Given the description of an element on the screen output the (x, y) to click on. 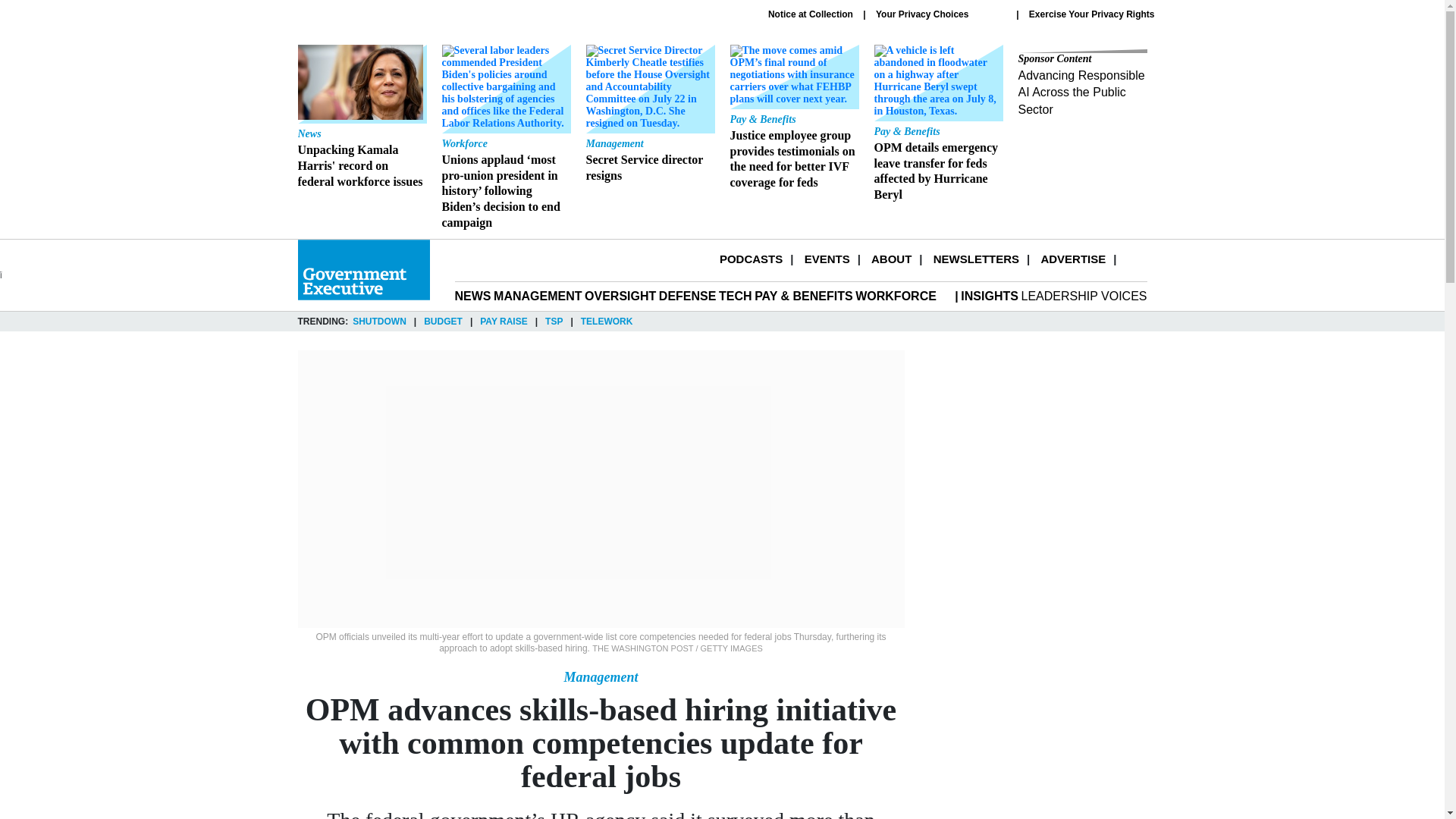
ADVERTISE (1073, 258)
NEWSLETTERS (976, 258)
Notice at Collection (810, 14)
Your Privacy Choices (941, 14)
Exercise Your Privacy Rights (1091, 14)
ABOUT (890, 258)
PODCASTS (751, 258)
EVENTS (827, 258)
